Given the description of an element on the screen output the (x, y) to click on. 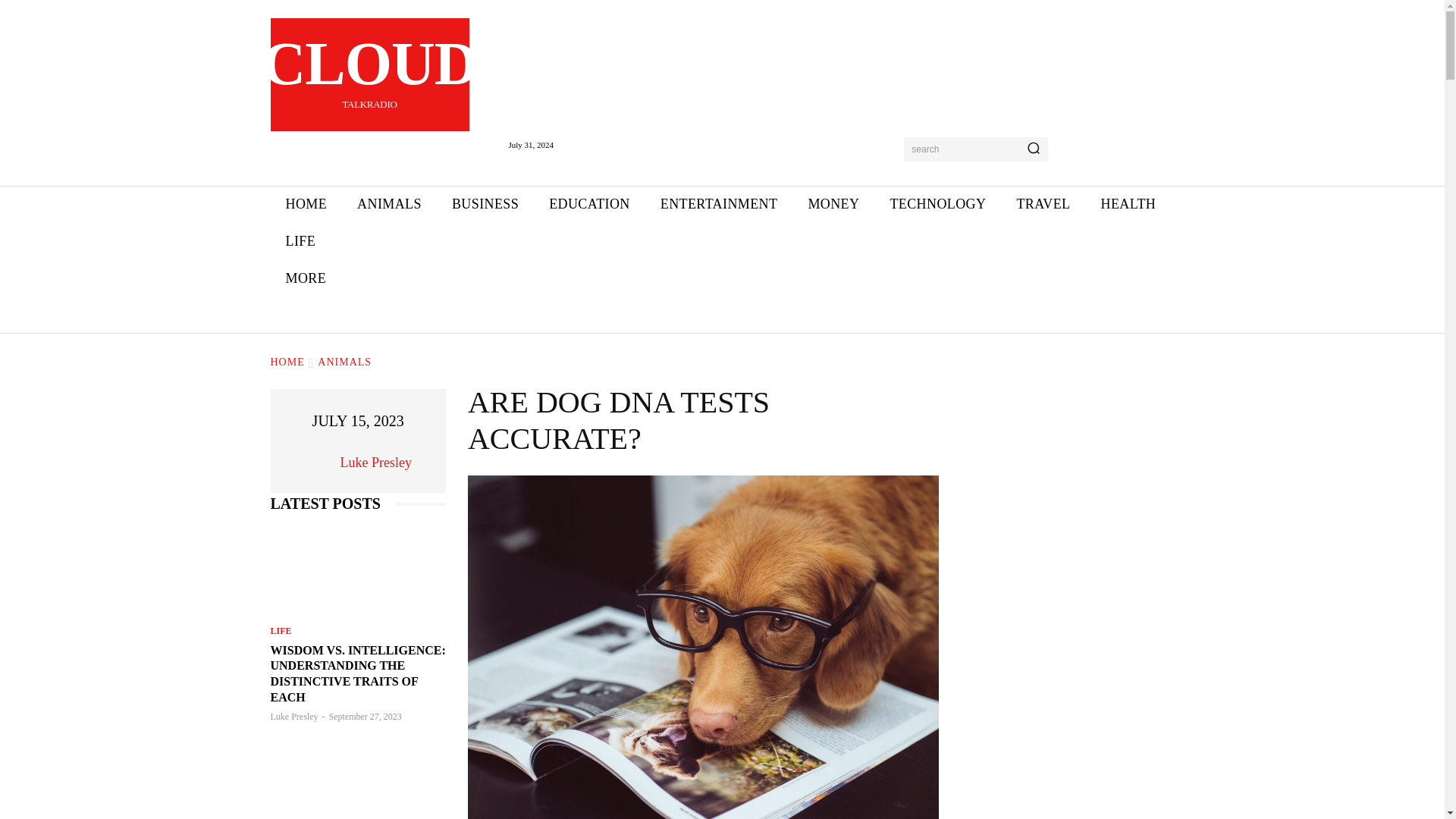
View all posts in Animals (344, 361)
EDUCATION (589, 203)
TECHNOLOGY (938, 203)
ENTERTAINMENT (719, 203)
HEALTH (1127, 203)
TRAVEL (368, 74)
BUSINESS (1042, 203)
ANIMALS (485, 203)
Luke Presley (389, 203)
HOME (320, 462)
LIFE (305, 203)
MONEY (299, 241)
